Given the description of an element on the screen output the (x, y) to click on. 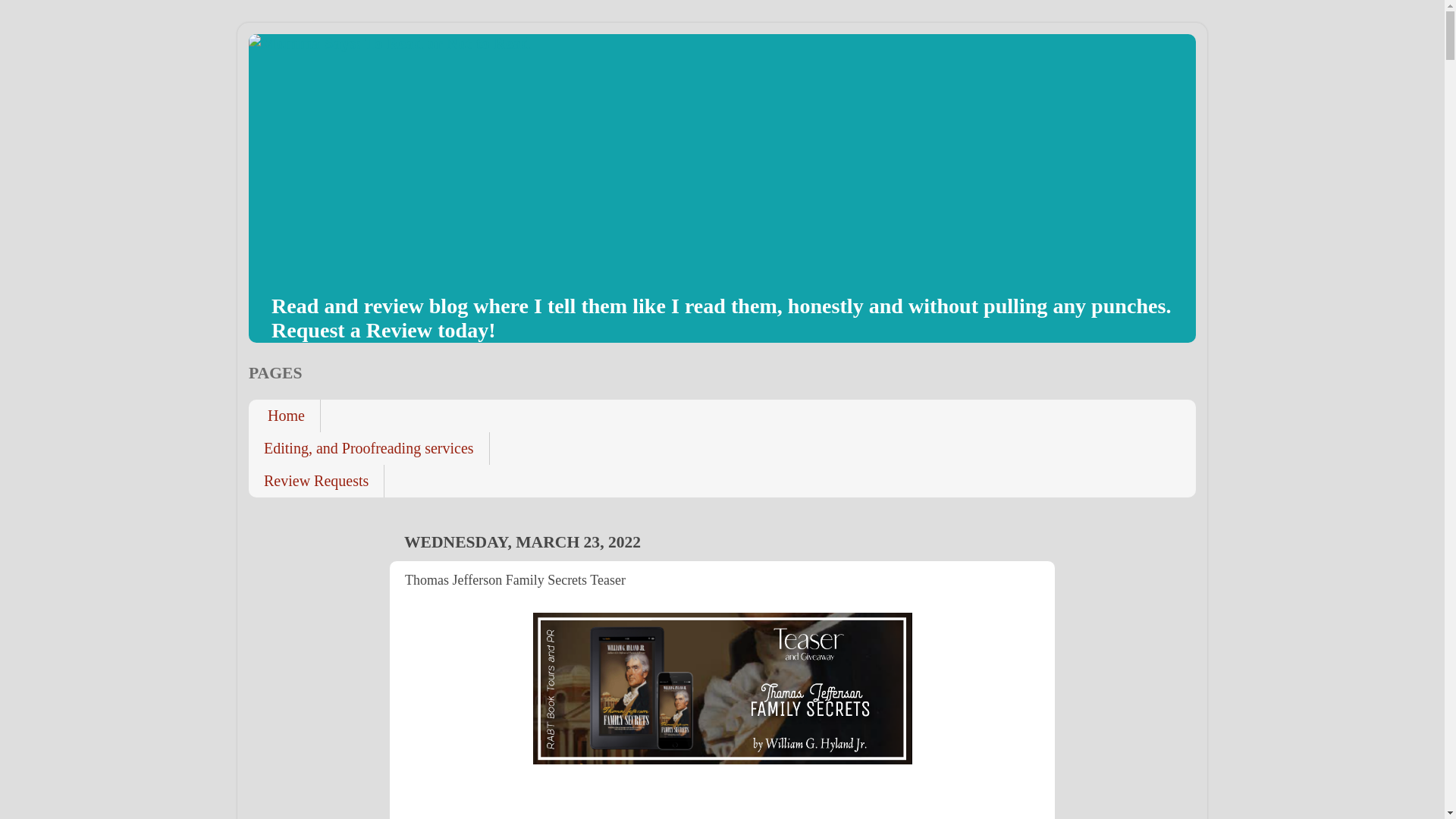
Review Requests (316, 481)
Editing, and Proofreading services (368, 448)
Home (284, 415)
